Given the description of an element on the screen output the (x, y) to click on. 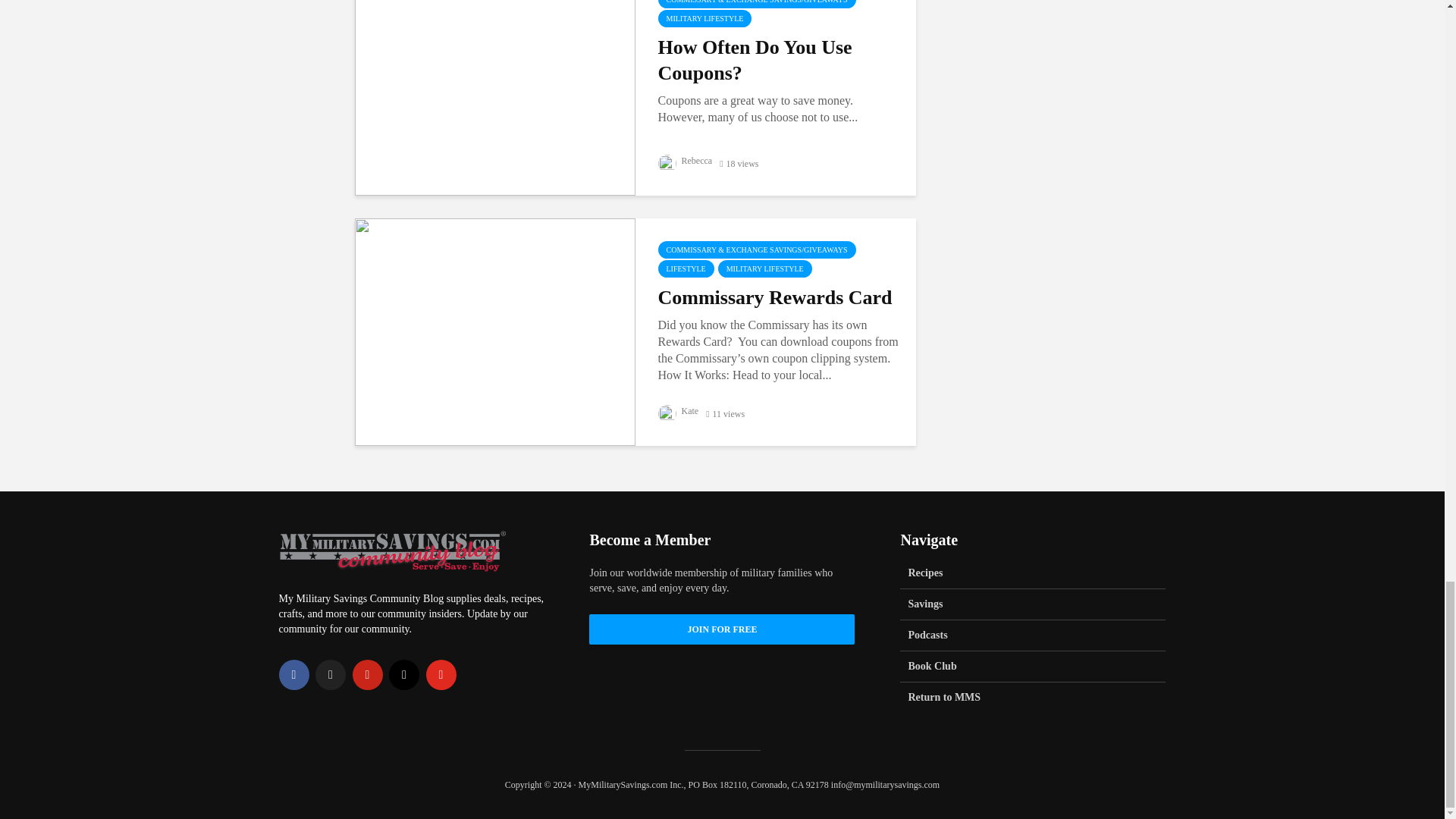
Join for Free (721, 629)
How Often Do You Use Coupons? (494, 80)
Join for Free (721, 629)
Commissary Rewards Card (494, 330)
